Given the description of an element on the screen output the (x, y) to click on. 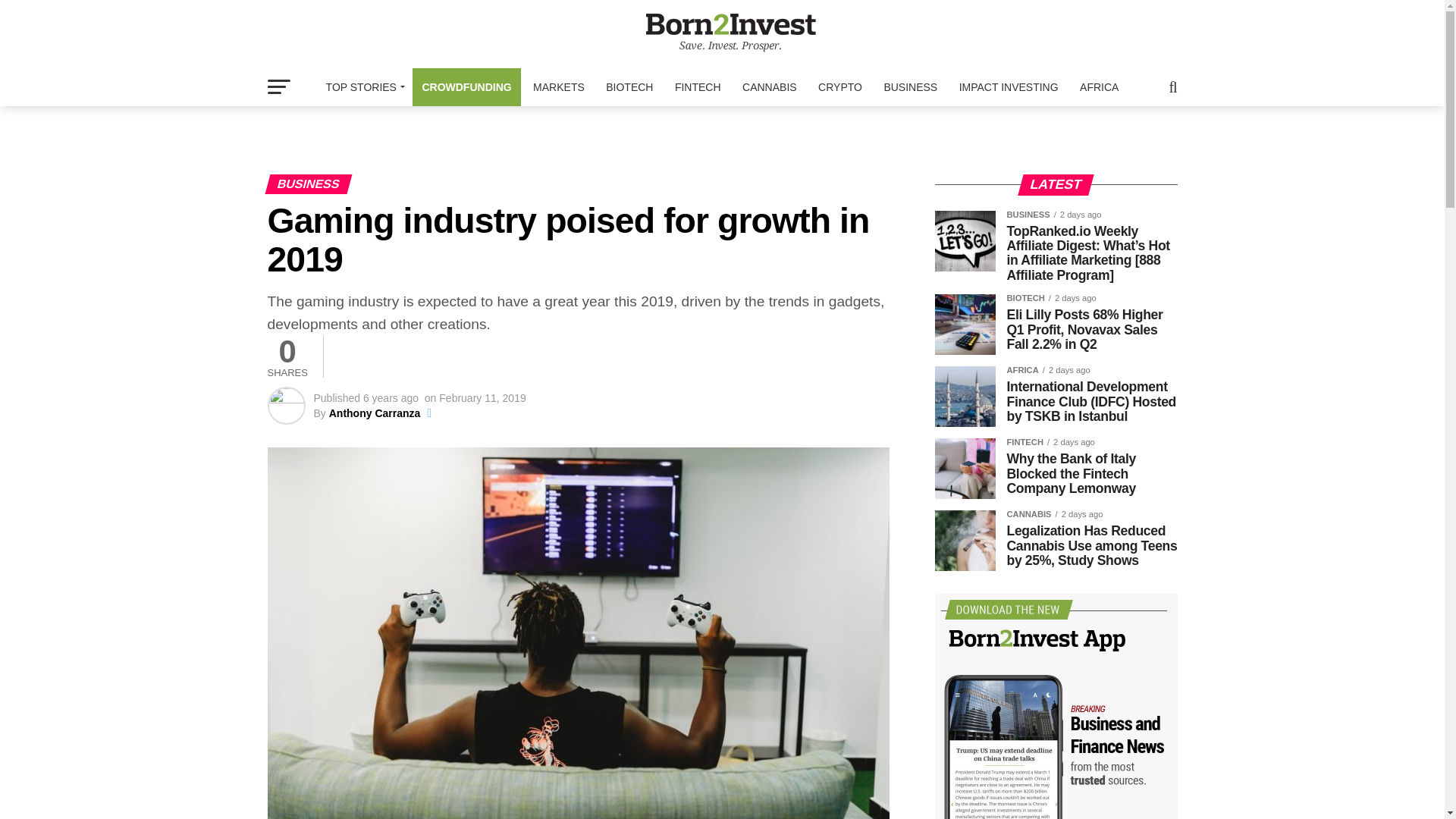
Anthony Carranza (374, 413)
TOP STORIES (363, 86)
IMPACT INVESTING (1008, 86)
BIOTECH (629, 86)
CANNABIS (769, 86)
CRYPTO (839, 86)
Posts by Anthony Carranza (374, 413)
MARKETS (559, 86)
BUSINESS (910, 86)
FINTECH (697, 86)
